Given the description of an element on the screen output the (x, y) to click on. 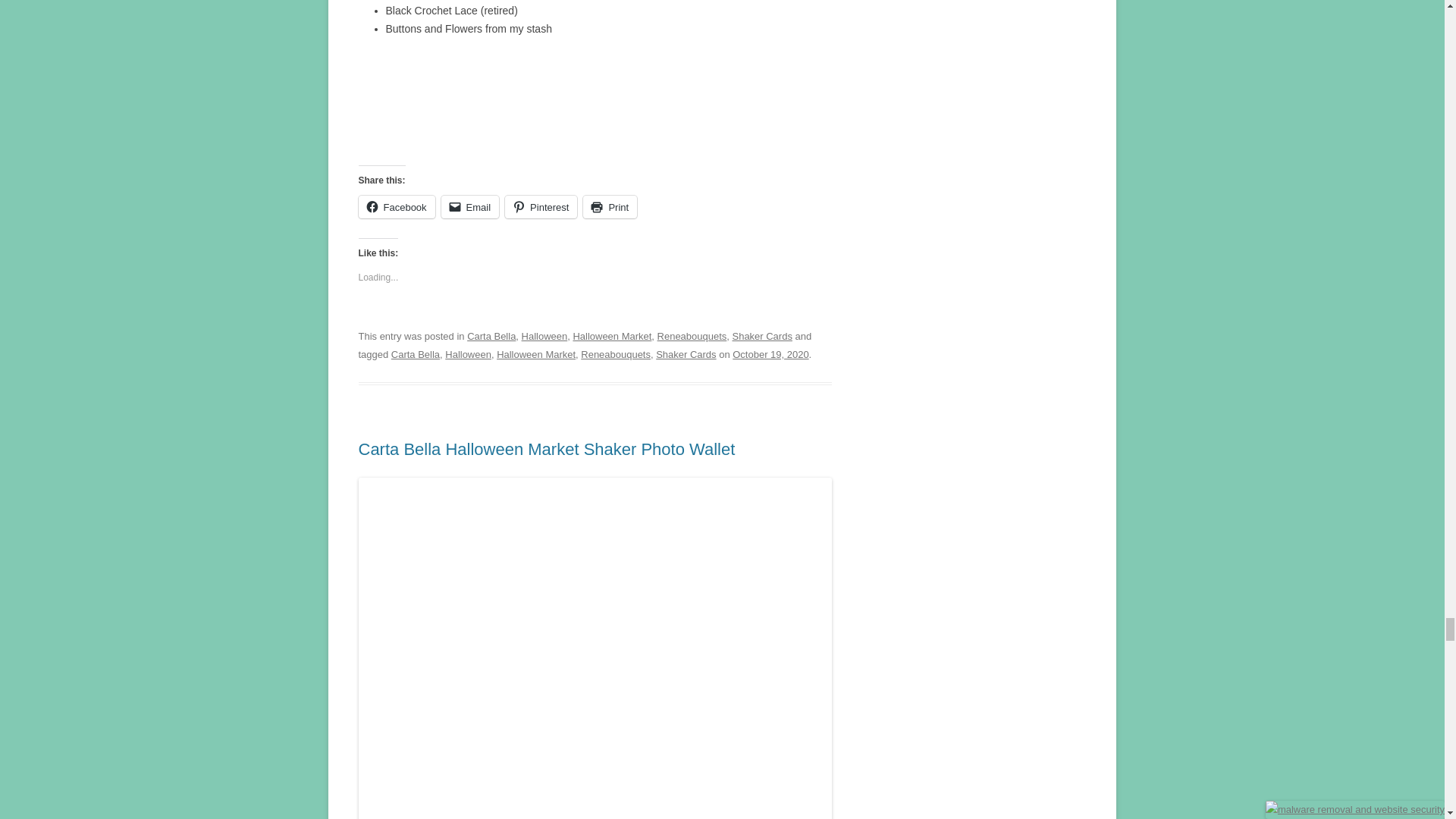
Click to share on Facebook (395, 206)
Click to share on Pinterest (540, 206)
Click to email a link to a friend (470, 206)
